Given the description of an element on the screen output the (x, y) to click on. 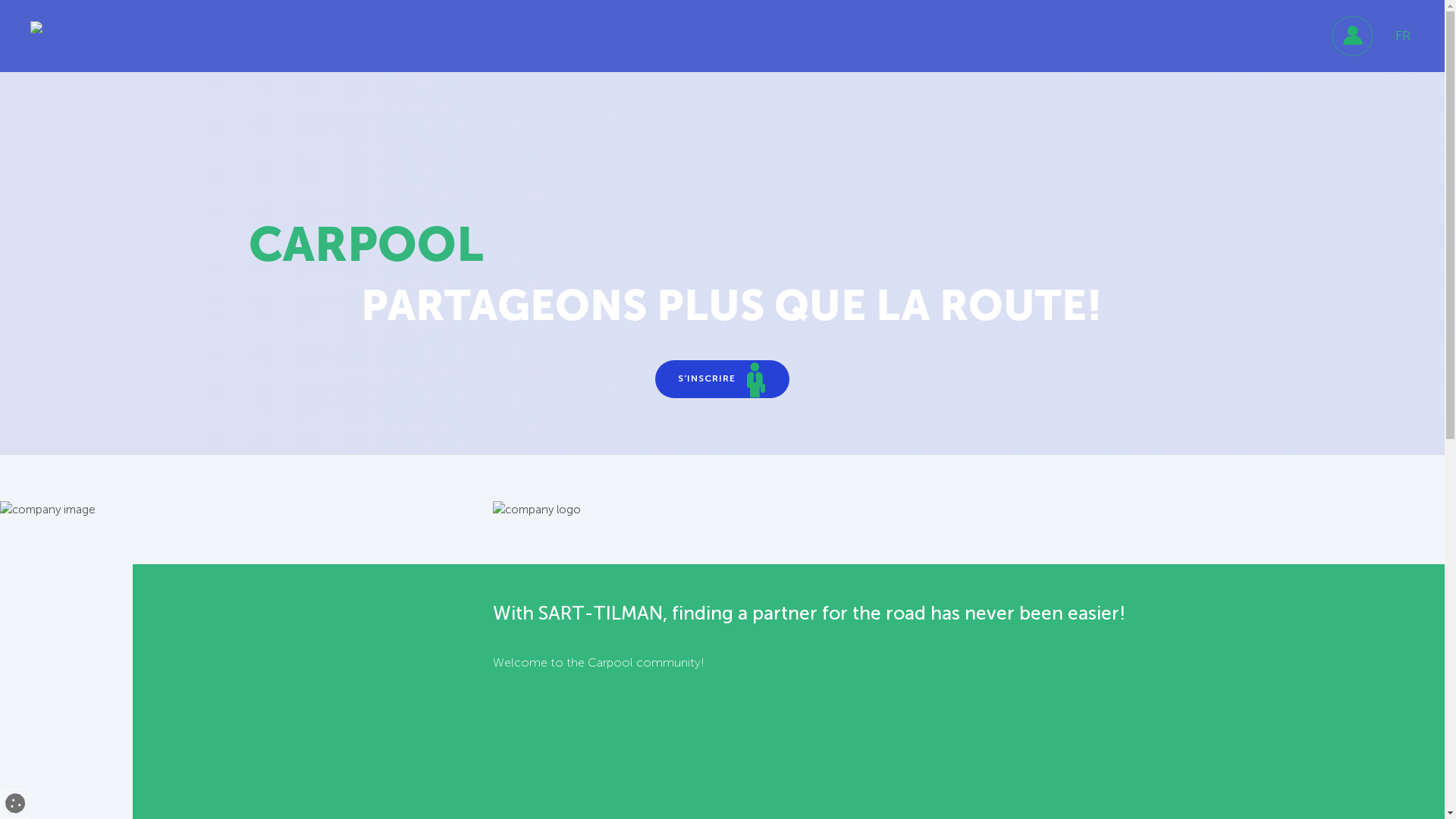
FR Element type: text (1402, 35)
